Given the description of an element on the screen output the (x, y) to click on. 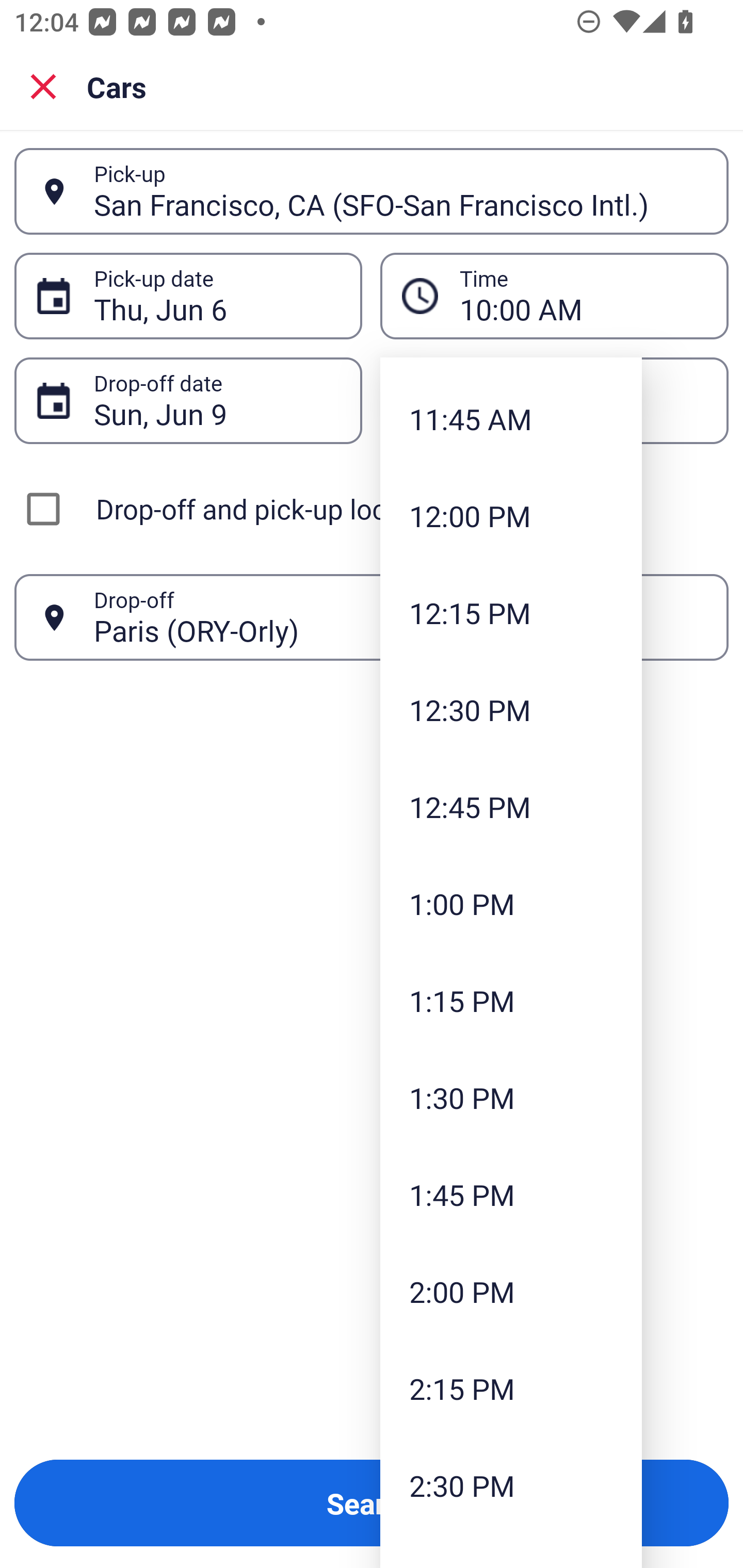
11:45 AM (510, 418)
12:00 PM (510, 515)
12:15 PM (510, 612)
12:30 PM (510, 709)
12:45 PM (510, 806)
1:00 PM (510, 902)
1:15 PM (510, 999)
1:30 PM (510, 1097)
1:45 PM (510, 1194)
2:00 PM (510, 1291)
2:15 PM (510, 1388)
2:30 PM (510, 1484)
